Given the description of an element on the screen output the (x, y) to click on. 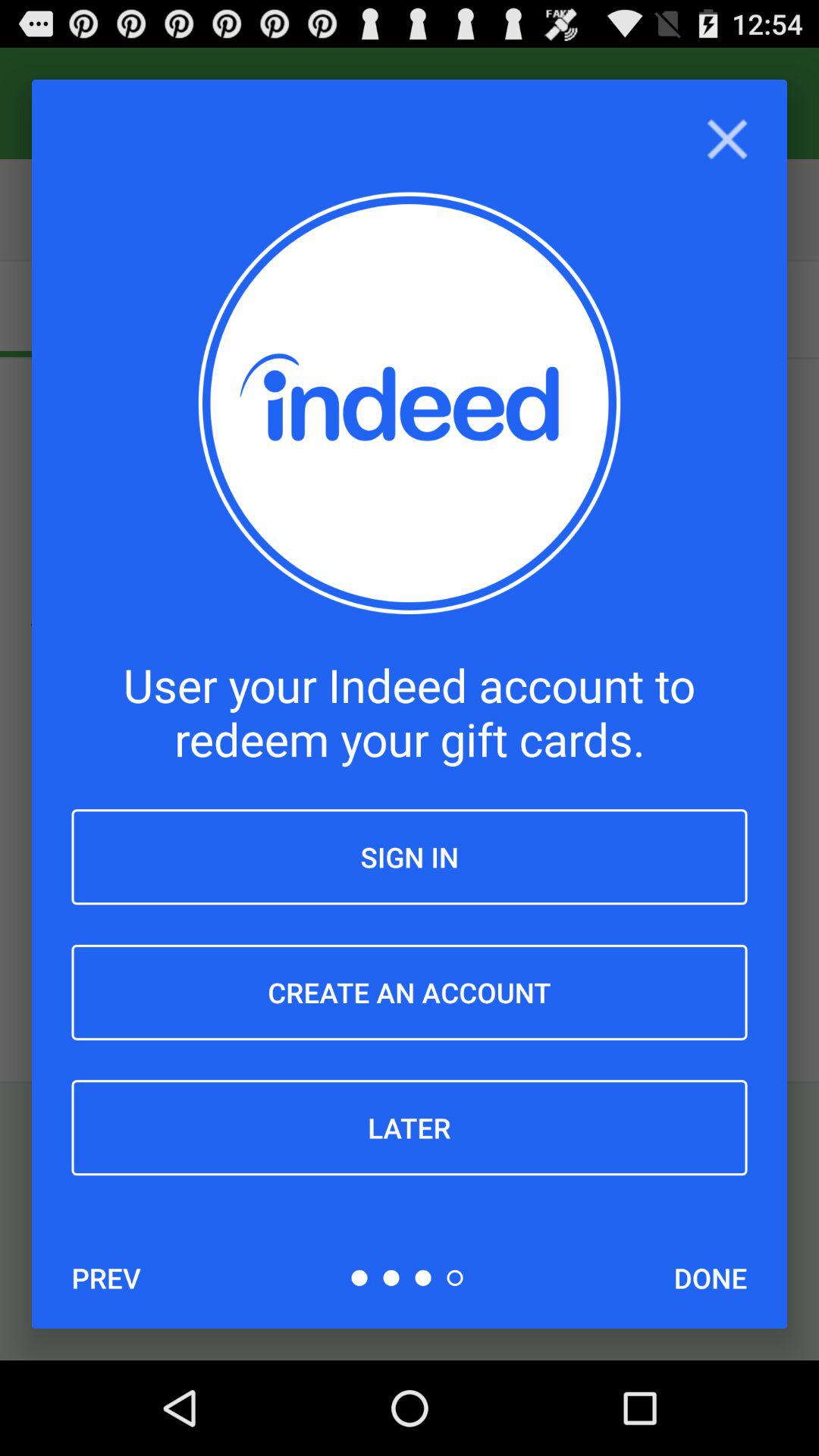
jump until the create an account item (409, 992)
